Given the description of an element on the screen output the (x, y) to click on. 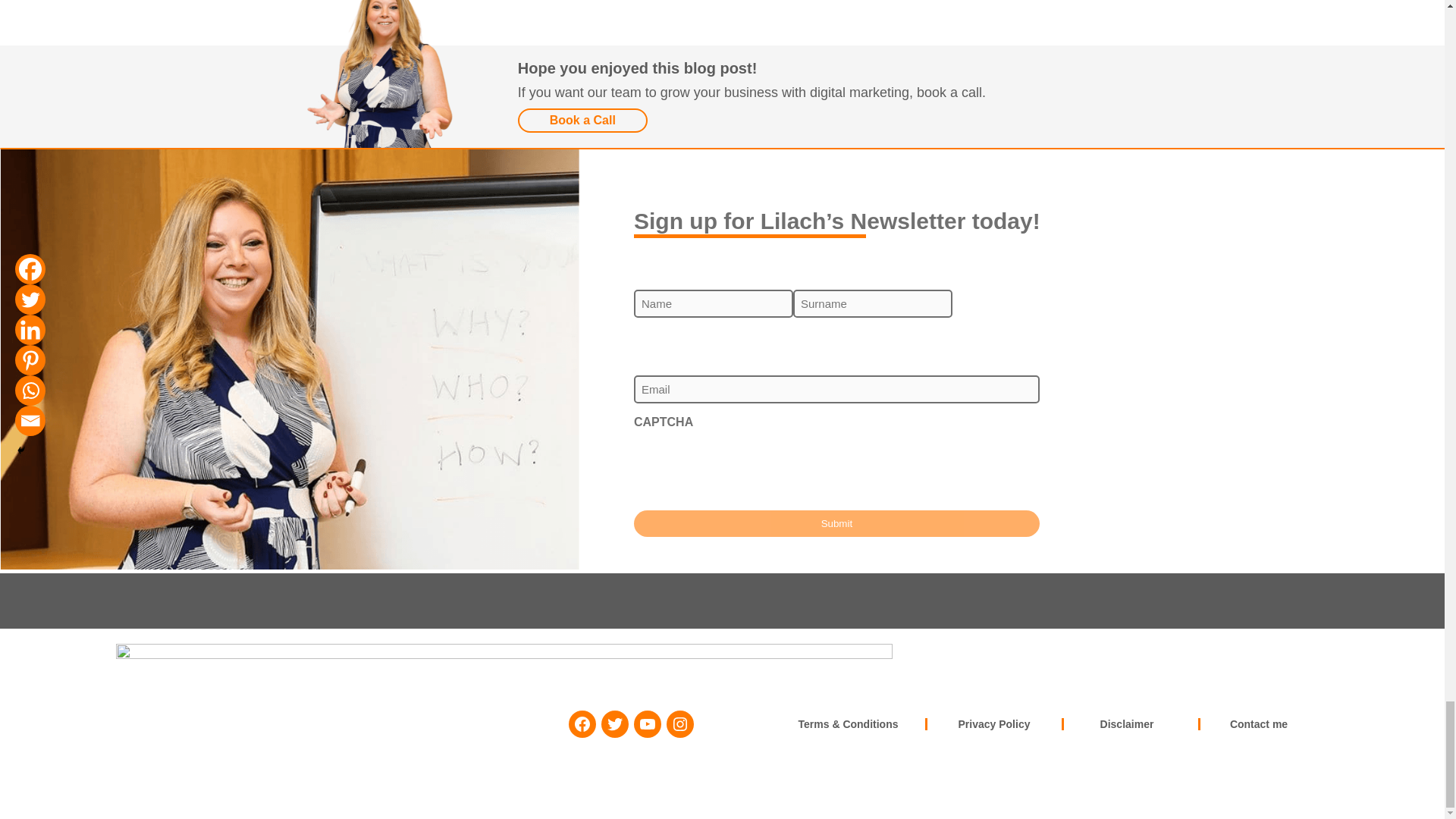
Submit (836, 523)
